Given the description of an element on the screen output the (x, y) to click on. 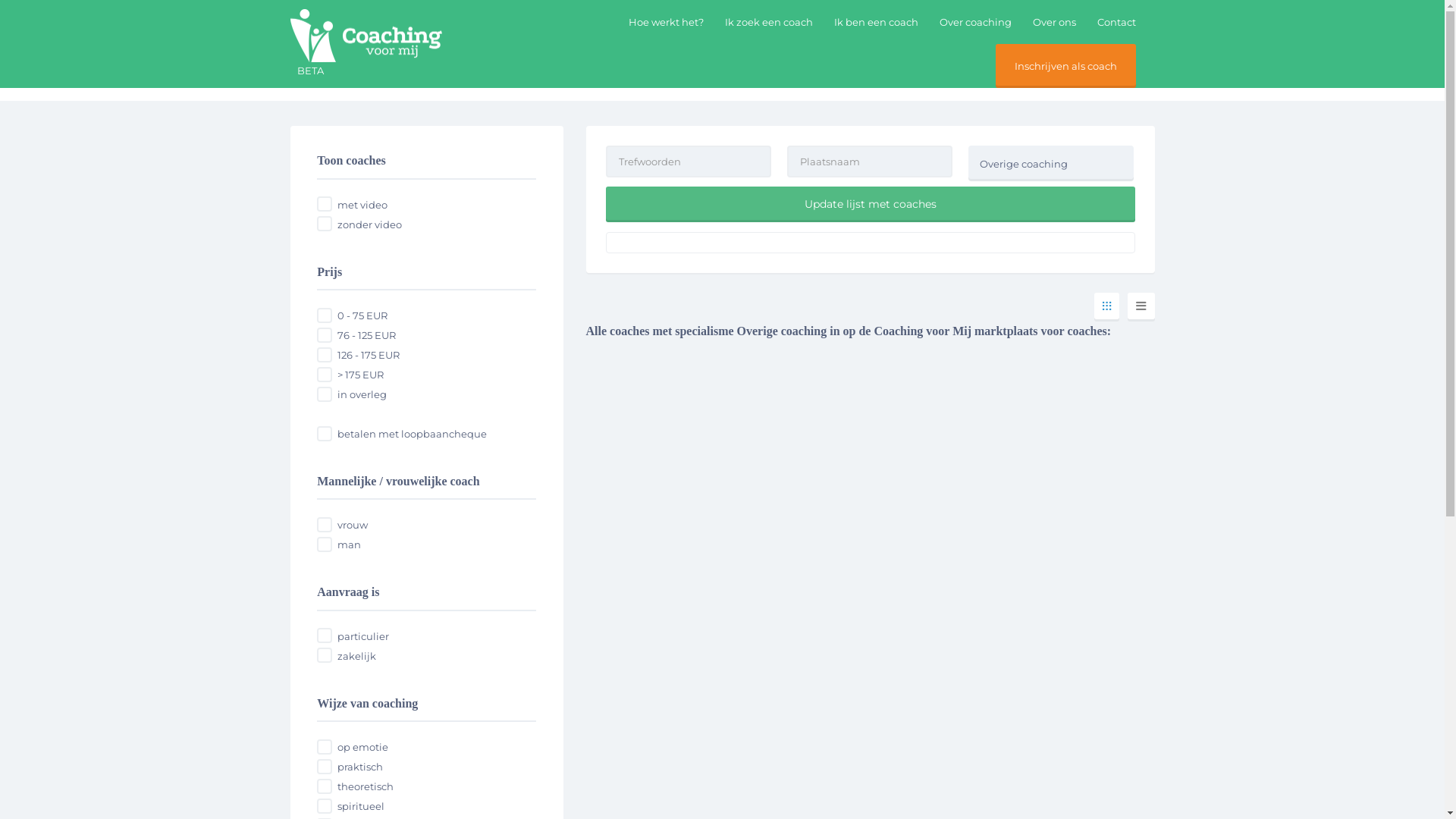
practical Element type: text (324, 766)
Ik zoek een coach Element type: text (447, 78)
126_175 Element type: text (324, 354)
male Element type: text (324, 544)
spiritual Element type: text (324, 805)
Over ons Element type: text (1054, 21)
Specialismes Element type: text (333, 78)
0_75 Element type: text (324, 315)
Ik ben een coach Element type: text (571, 78)
yes Element type: text (324, 203)
business Element type: text (324, 654)
175plus Element type: text (324, 374)
Hoe werkt het? Element type: text (664, 21)
Inschrijven als coach Element type: text (1065, 65)
emotion Element type: text (324, 746)
Hoe werkt het? Element type: text (707, 78)
consumer Element type: text (324, 635)
Ik ben een coach Element type: text (876, 21)
1 Element type: text (324, 433)
theoretical Element type: text (324, 785)
Over coaching Element type: text (974, 21)
Update lijst met coaches Element type: text (869, 204)
inagreement Element type: text (324, 393)
female Element type: text (324, 524)
Contact Element type: text (1115, 21)
Ik zoek een coach Element type: text (768, 21)
76_125 Element type: text (324, 334)
no Element type: text (324, 223)
